Given the description of an element on the screen output the (x, y) to click on. 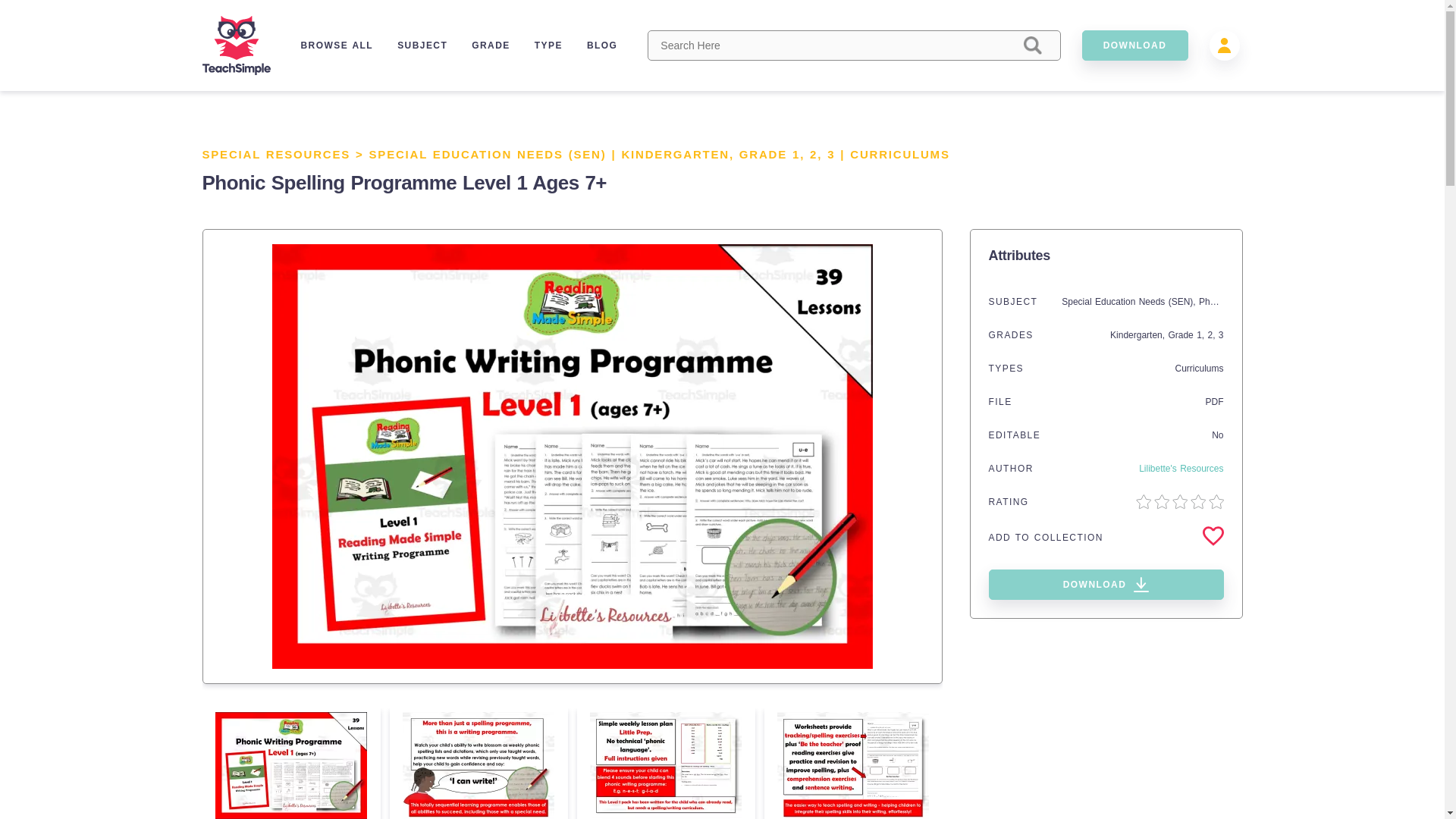
3 (830, 154)
PDF (1214, 401)
BLOG (601, 45)
Lilibette's Resources (1180, 468)
1, (1201, 335)
Phonics, (1217, 301)
3 (1221, 335)
DOWNLOAD (1134, 45)
Kindergarten (1135, 335)
1, (800, 154)
DOWNLOAD (1106, 584)
2, (818, 154)
CURRICULUMS (899, 154)
2, (1212, 335)
Curriculums (1198, 368)
